Given the description of an element on the screen output the (x, y) to click on. 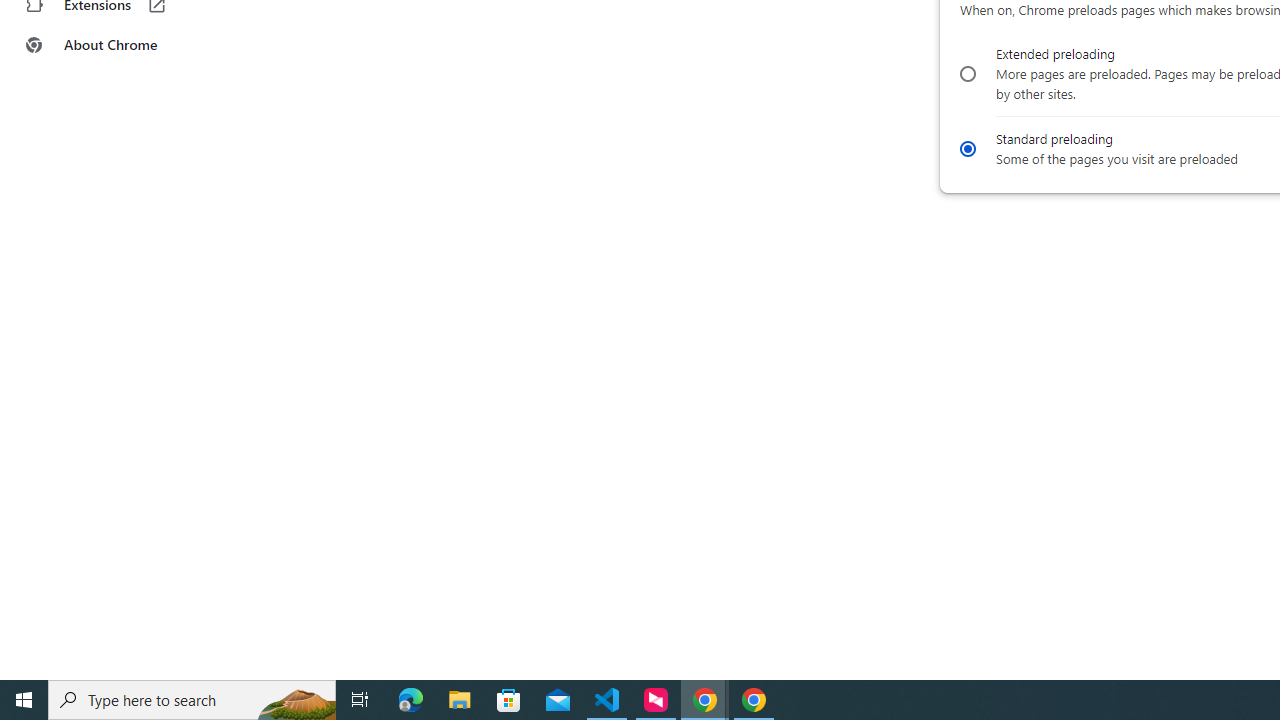
Extended preloading (966, 74)
About Chrome (124, 44)
Standard preloading (966, 147)
